Given the description of an element on the screen output the (x, y) to click on. 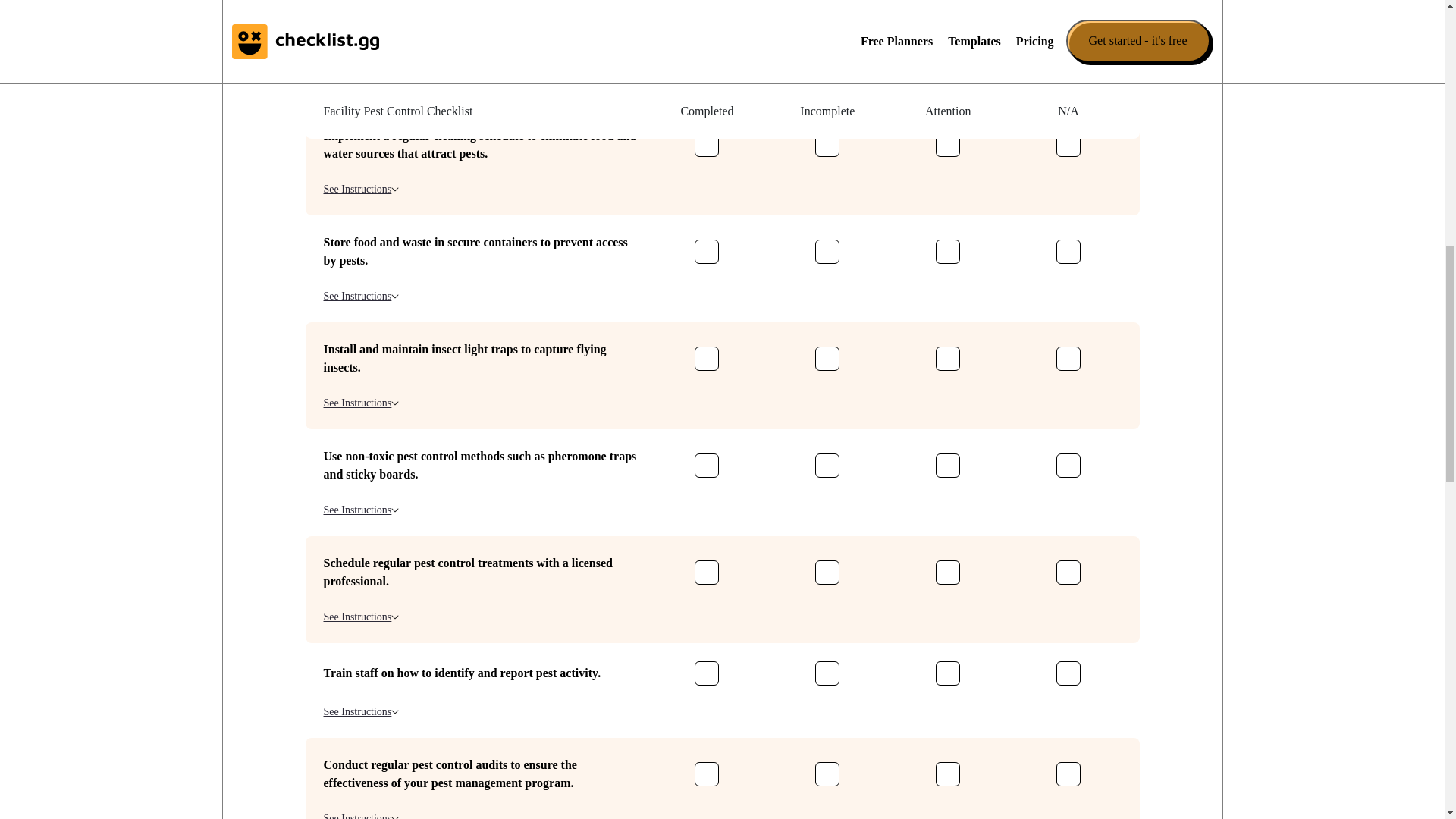
See Instructions (360, 616)
See Instructions (360, 814)
See Instructions (360, 711)
See Instructions (360, 295)
See Instructions (360, 188)
See Instructions (360, 82)
See Instructions (360, 509)
See Instructions (360, 402)
